Given the description of an element on the screen output the (x, y) to click on. 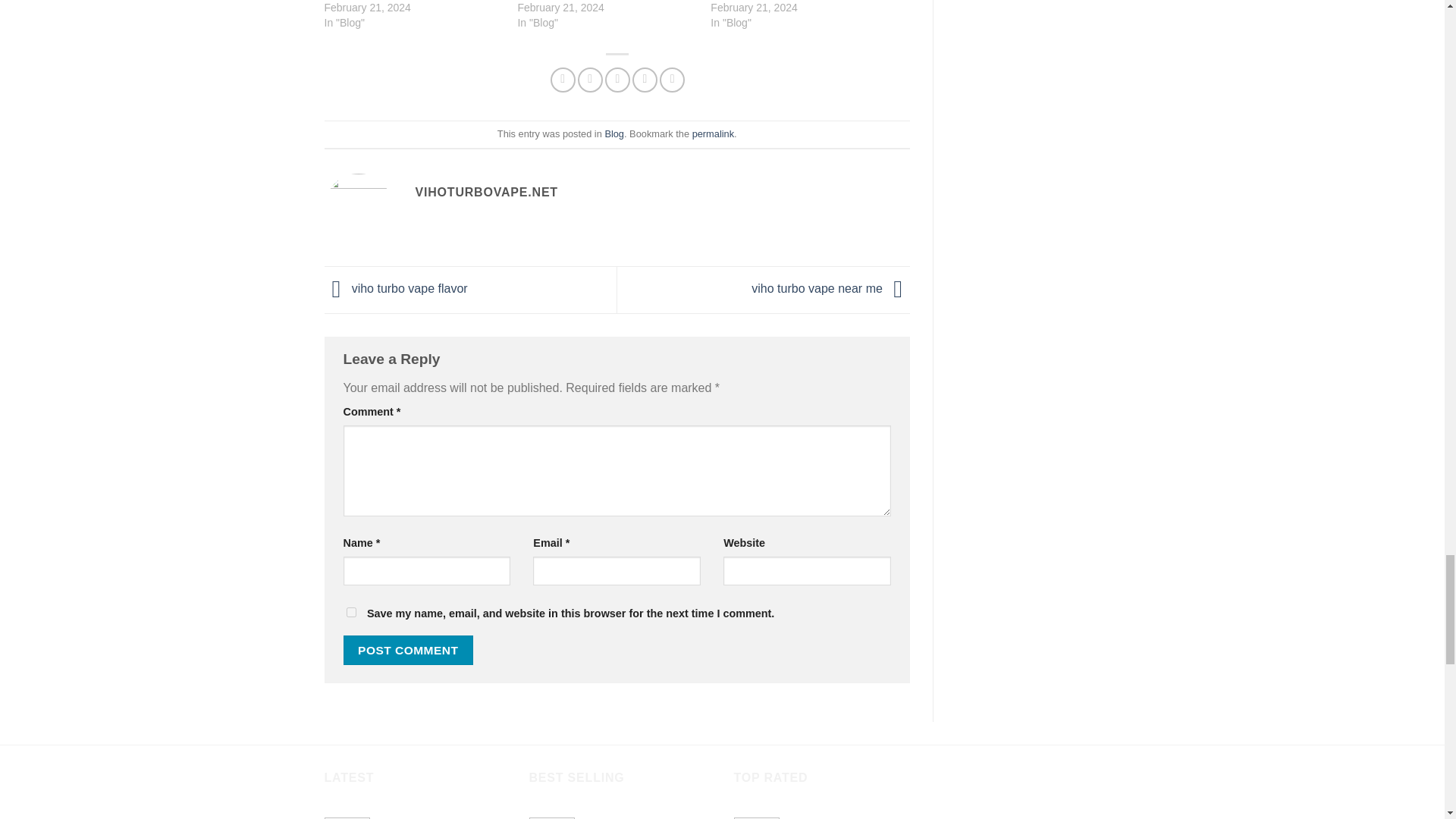
Post Comment (407, 650)
Pin on Pinterest (644, 79)
Permalink to viho turbo disposable review (713, 133)
Share on LinkedIn (671, 79)
Share on Facebook (562, 79)
yes (350, 612)
Email to a Friend (617, 79)
Share on Twitter (590, 79)
